Given the description of an element on the screen output the (x, y) to click on. 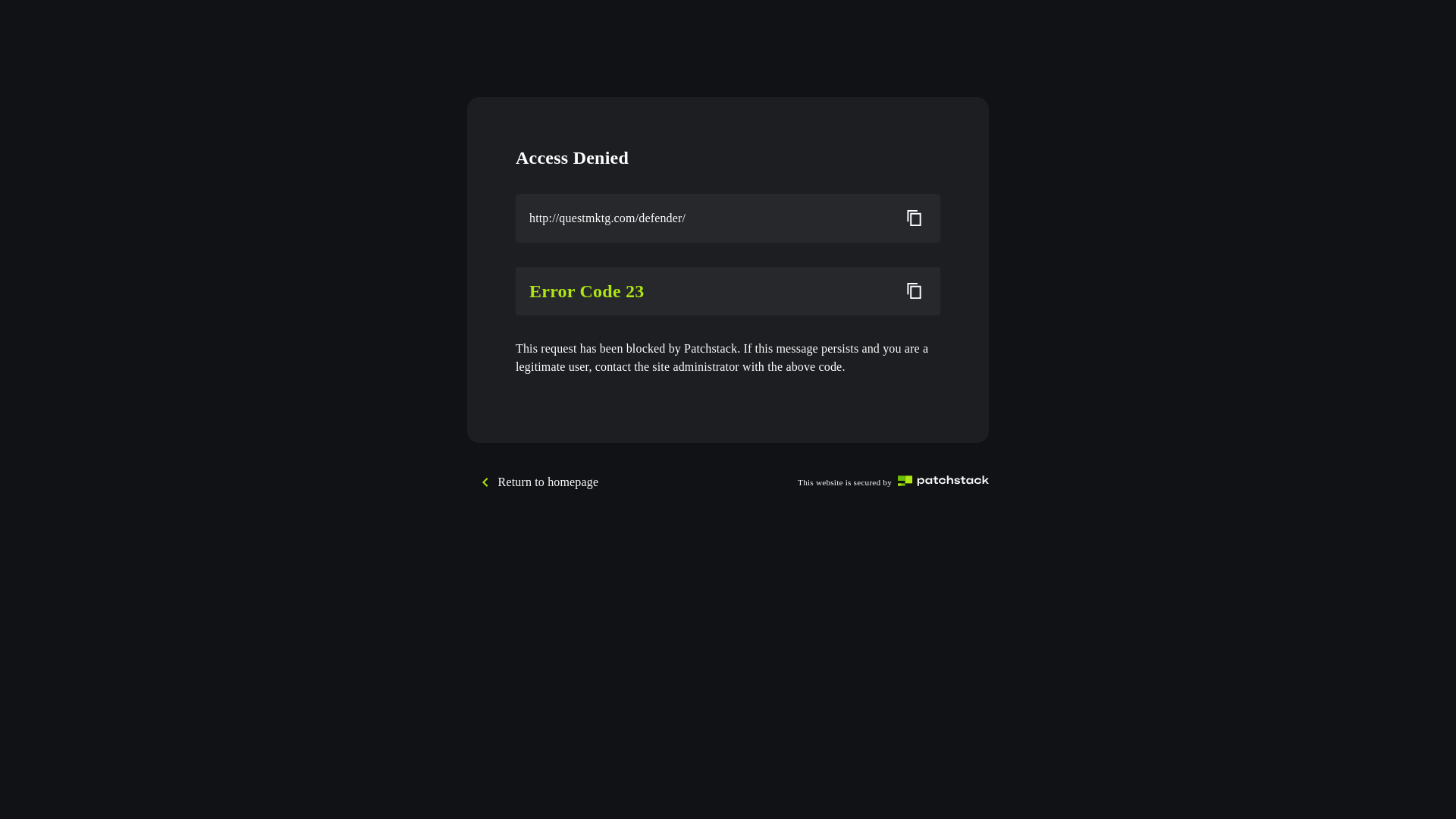
Error Code 23 (709, 290)
